Given the description of an element on the screen output the (x, y) to click on. 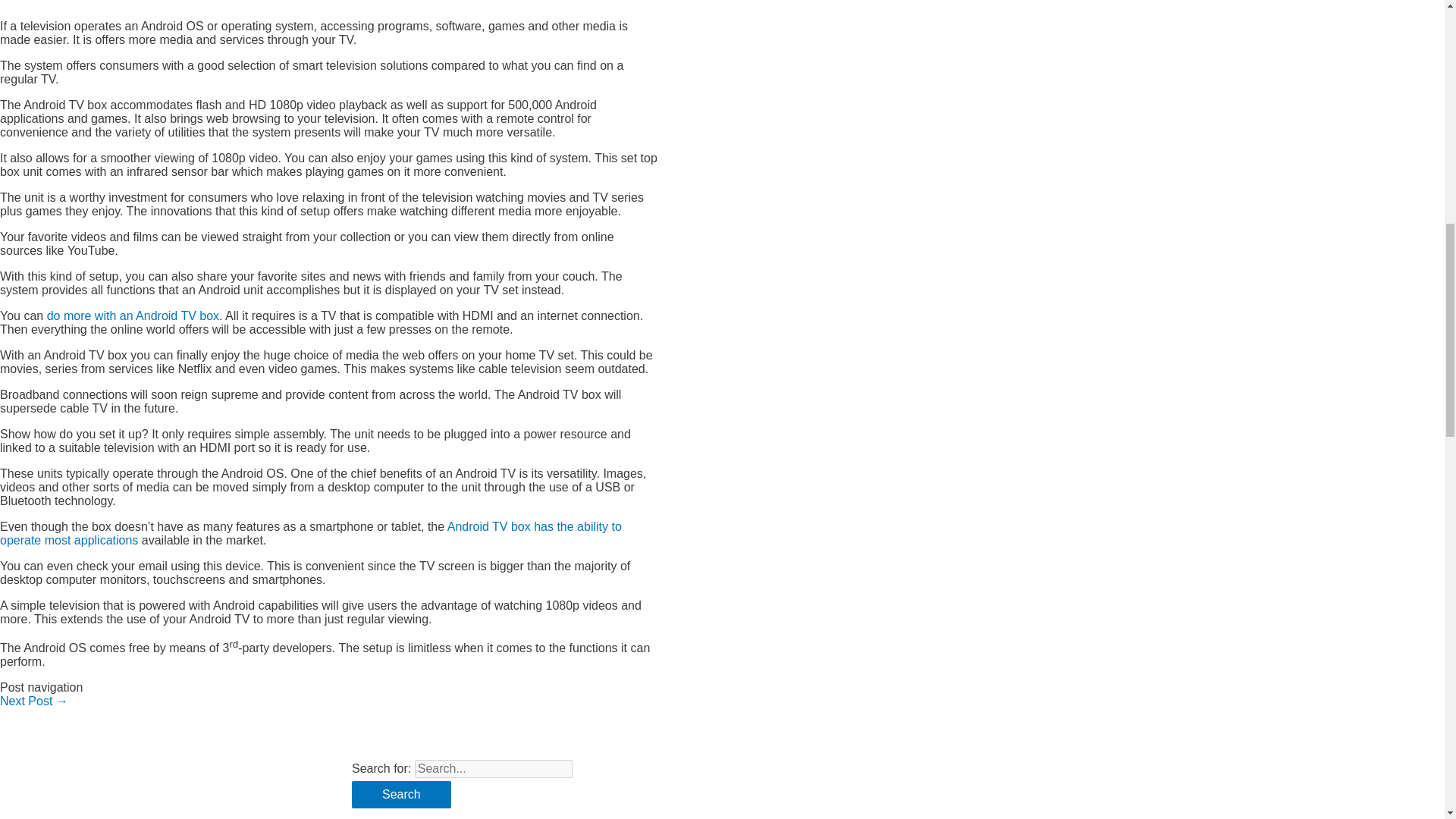
How to Use an Android TV Box (34, 700)
Search (401, 794)
Search (401, 794)
